Given the description of an element on the screen output the (x, y) to click on. 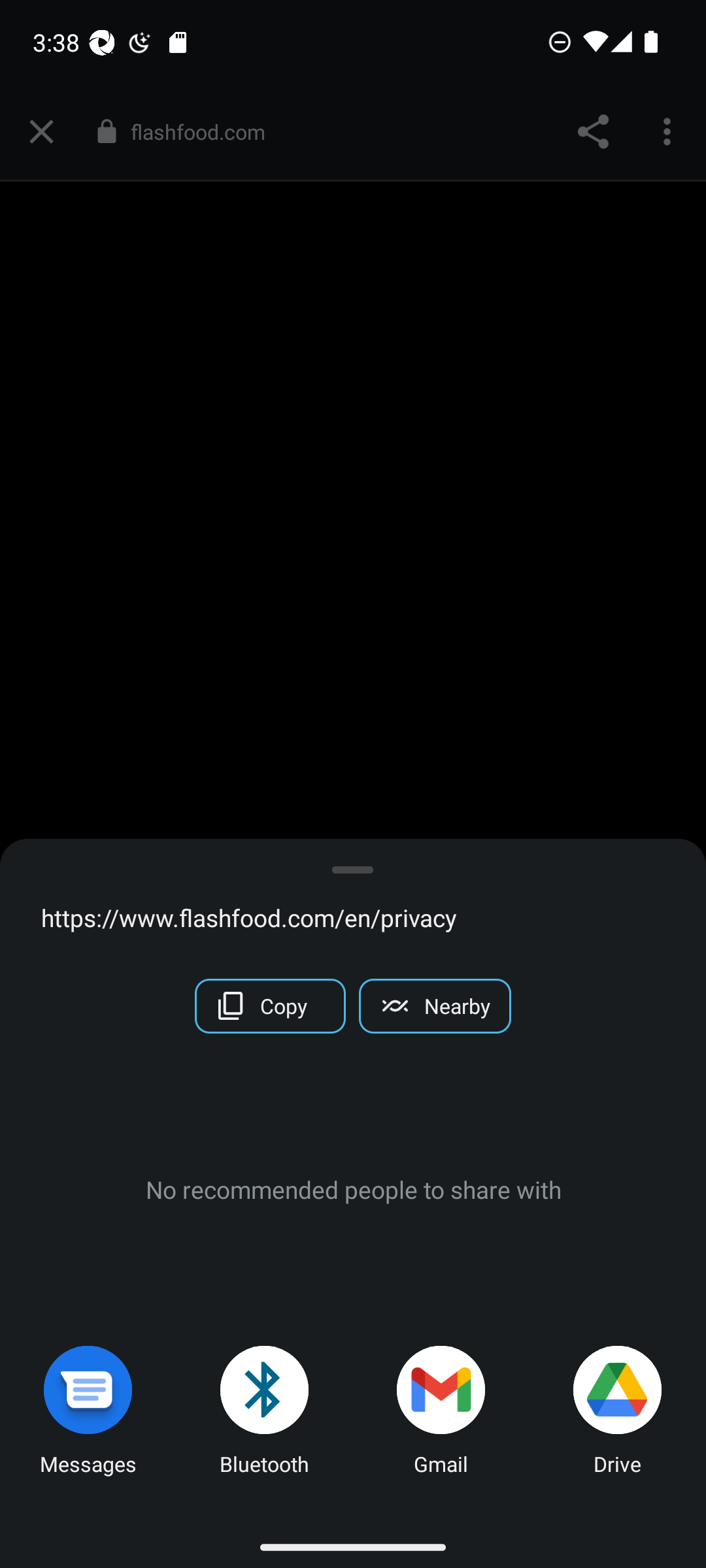
Copy (269, 1005)
Nearby (434, 1005)
Messages (88, 1414)
Bluetooth (264, 1414)
Gmail (441, 1414)
Drive (617, 1414)
